Given the description of an element on the screen output the (x, y) to click on. 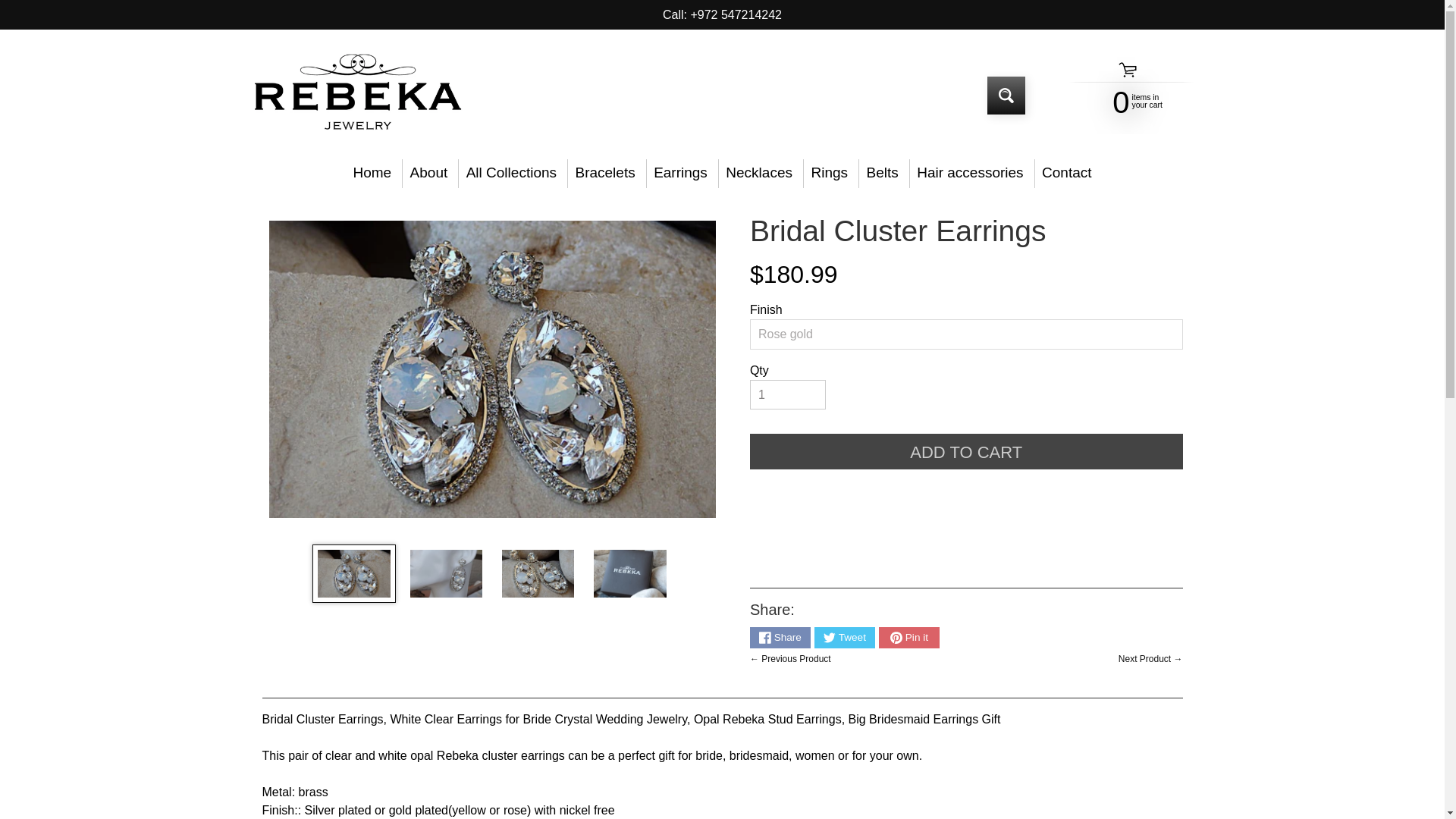
Contact (1067, 173)
Rings (829, 173)
SKIP TO PRODUCT INFORMATION (284, 221)
About (428, 173)
Hair accessories (970, 173)
Bracelets (604, 173)
Bridal Cluster Earrings (629, 573)
Rebekajewelry (356, 95)
Home (372, 173)
All Collections (510, 173)
